Given the description of an element on the screen output the (x, y) to click on. 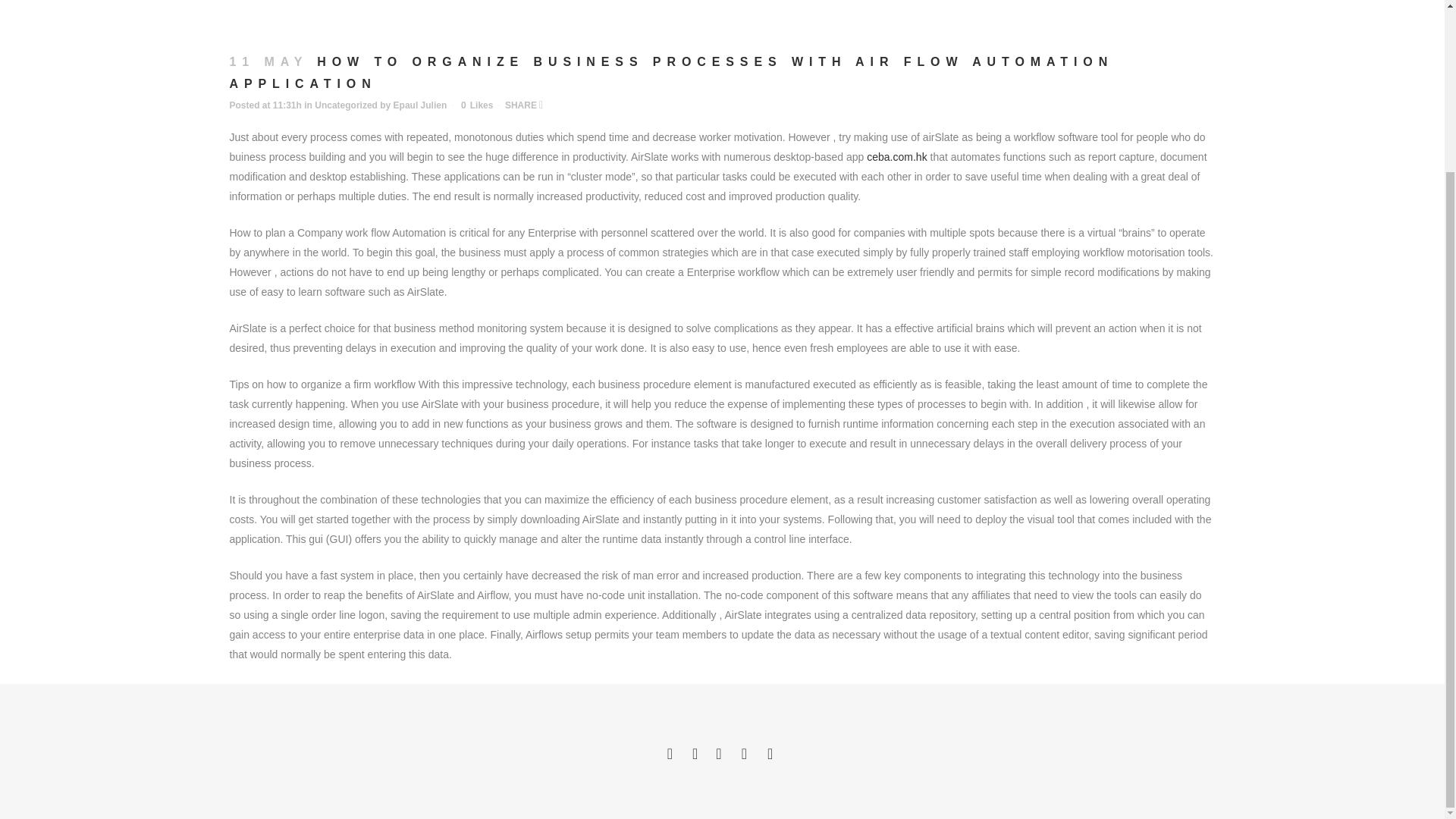
Epaul Julien (419, 104)
SHARE (524, 104)
Like this (477, 104)
ceba.com.hk (896, 156)
0 Likes (477, 104)
Uncategorized (345, 104)
